Given the description of an element on the screen output the (x, y) to click on. 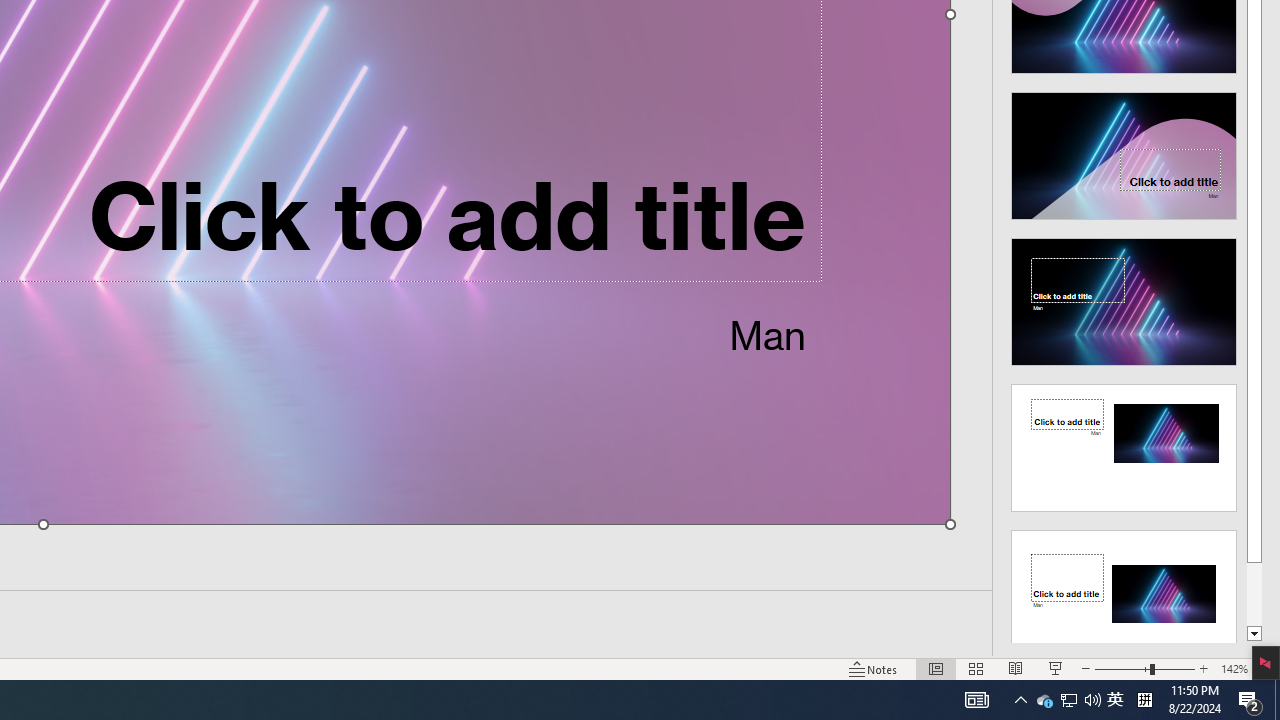
Design Idea (1124, 587)
Zoom 142% (1234, 668)
